Given the description of an element on the screen output the (x, y) to click on. 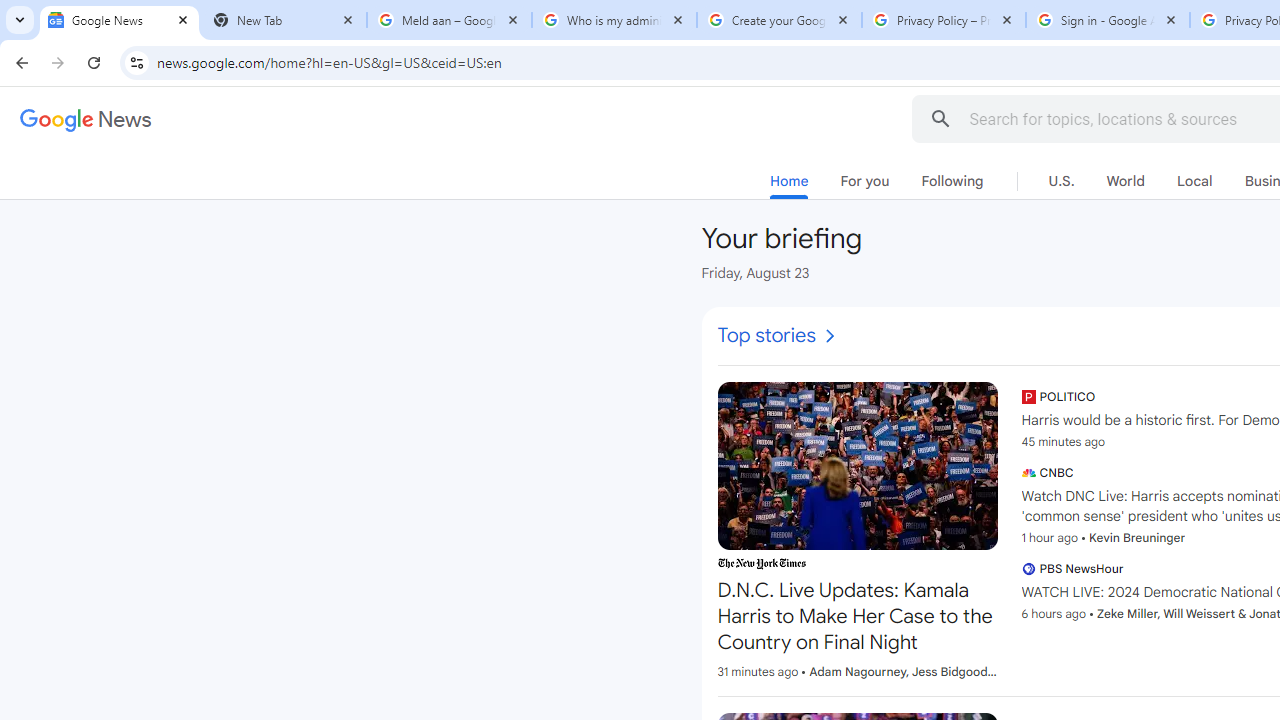
U.S. (1061, 181)
Top stories (777, 336)
Local (1194, 181)
Who is my administrator? - Google Account Help (614, 20)
Create your Google Account (779, 20)
